Given the description of an element on the screen output the (x, y) to click on. 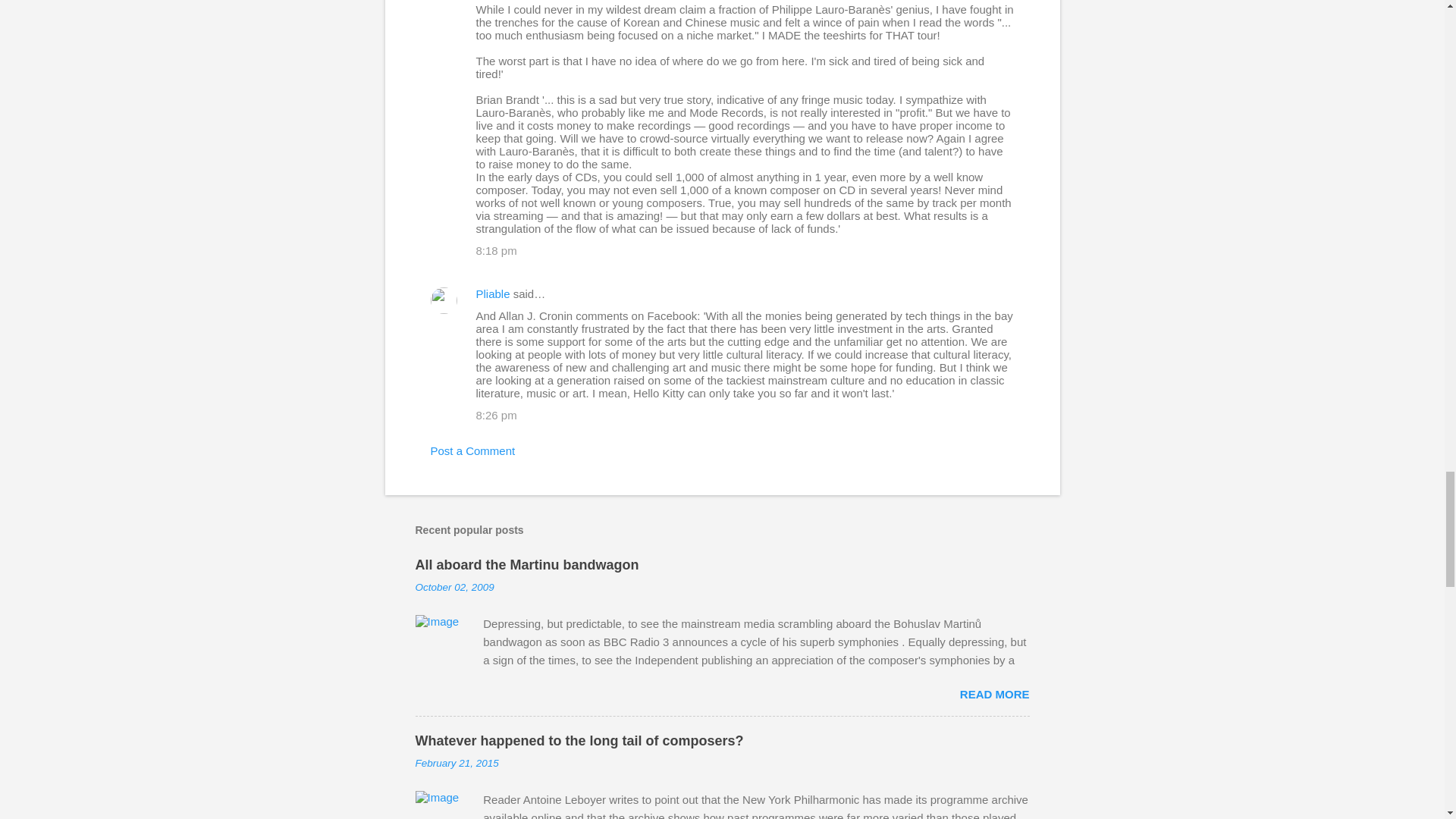
comment permalink (496, 250)
